Given the description of an element on the screen output the (x, y) to click on. 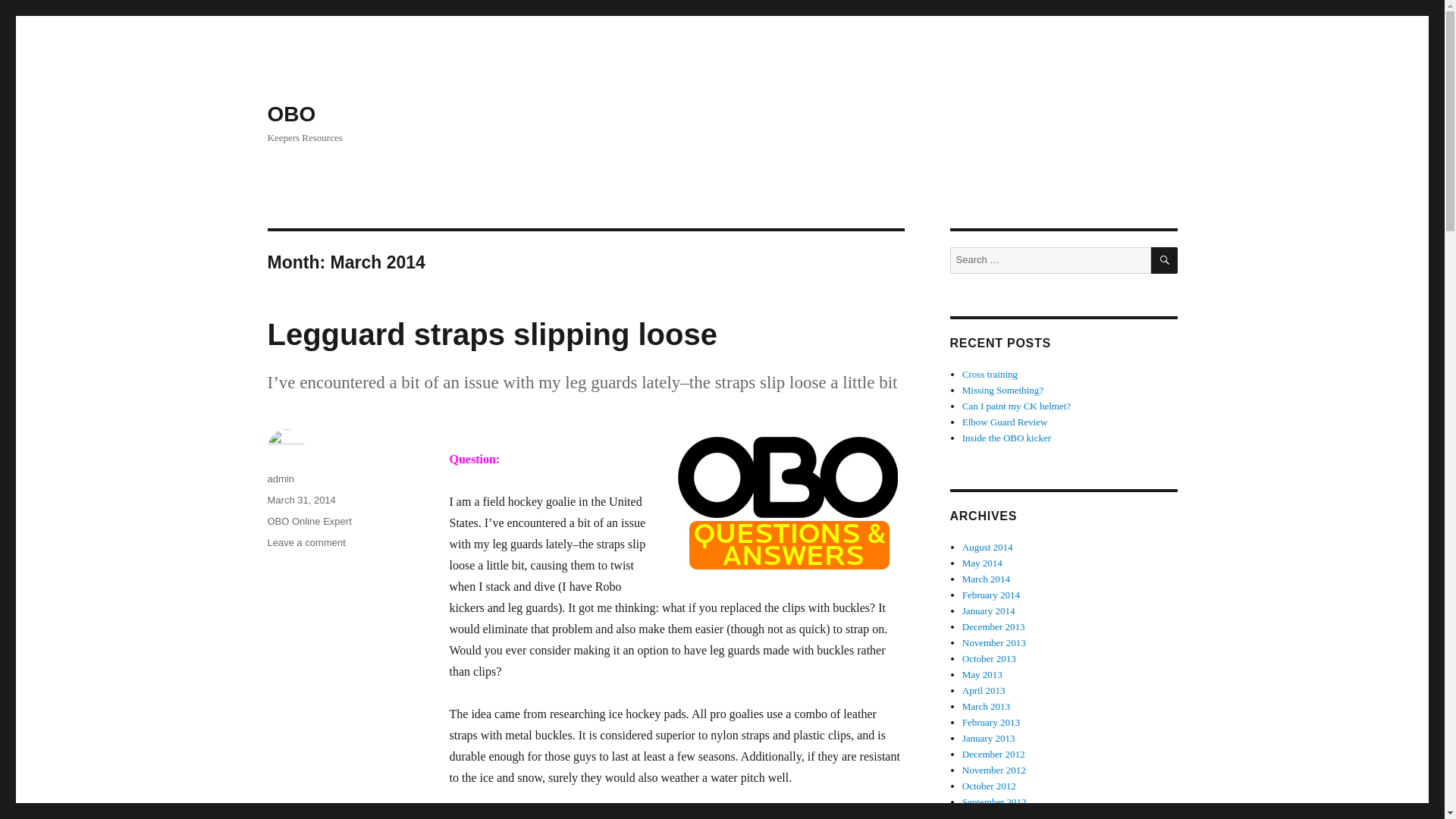
February 2014 (991, 594)
August 2014 (987, 546)
March 31, 2014 (300, 500)
November 2012 (994, 769)
October 2012 (989, 785)
OBO Online Expert (308, 521)
April 2013 (984, 690)
November 2013 (994, 642)
admin (280, 478)
May 2013 (982, 674)
